Given the description of an element on the screen output the (x, y) to click on. 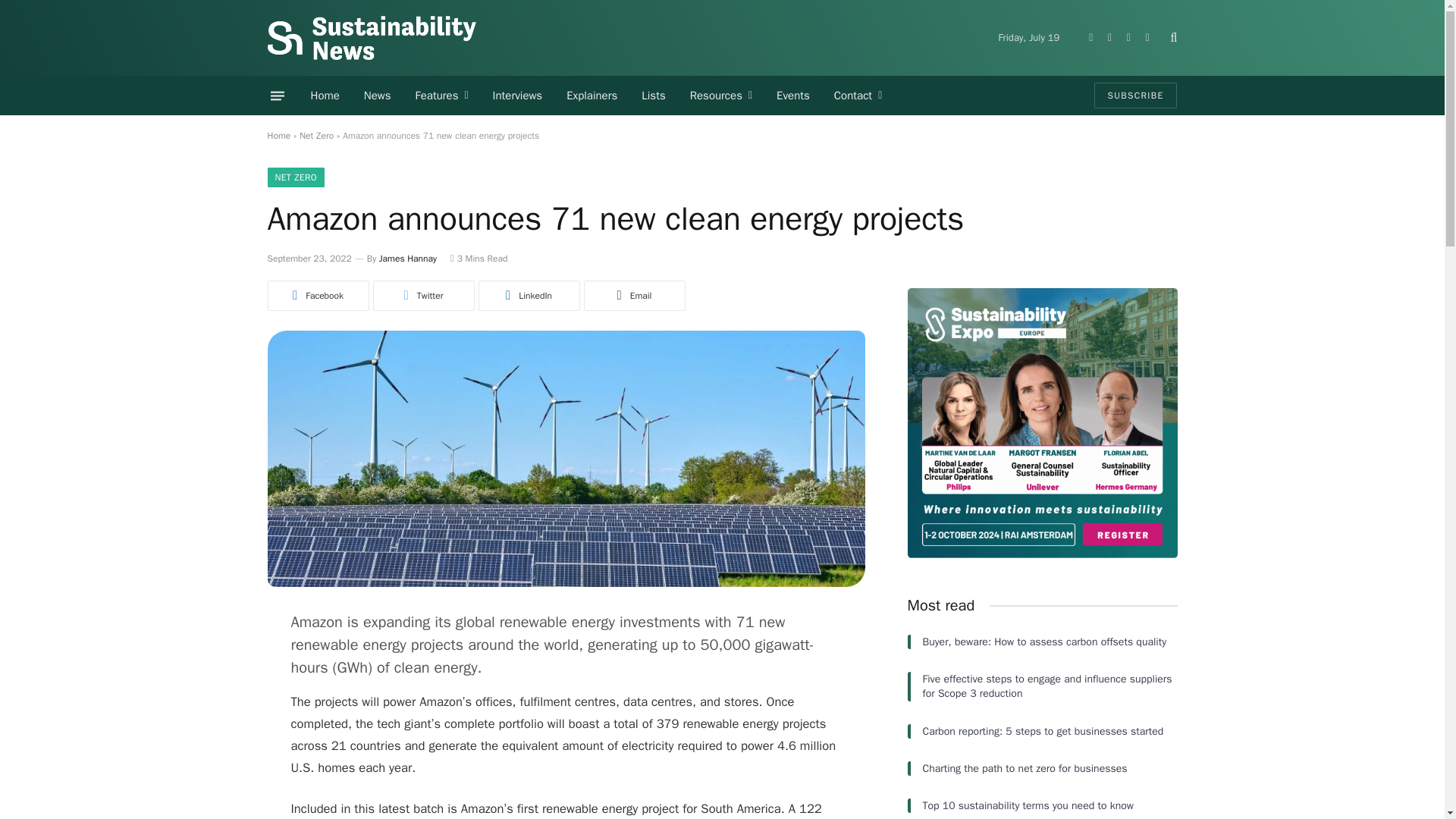
Search (1172, 38)
Posts by James Hannay (407, 258)
Share on LinkedIn (528, 295)
Interviews (517, 95)
Share on Facebook (317, 295)
Share on Twitter (423, 295)
Facebook (1147, 38)
Twitter (1109, 38)
Instagram (1128, 38)
Features (441, 95)
News (377, 95)
Home (325, 95)
LinkedIn (1090, 38)
